Given the description of an element on the screen output the (x, y) to click on. 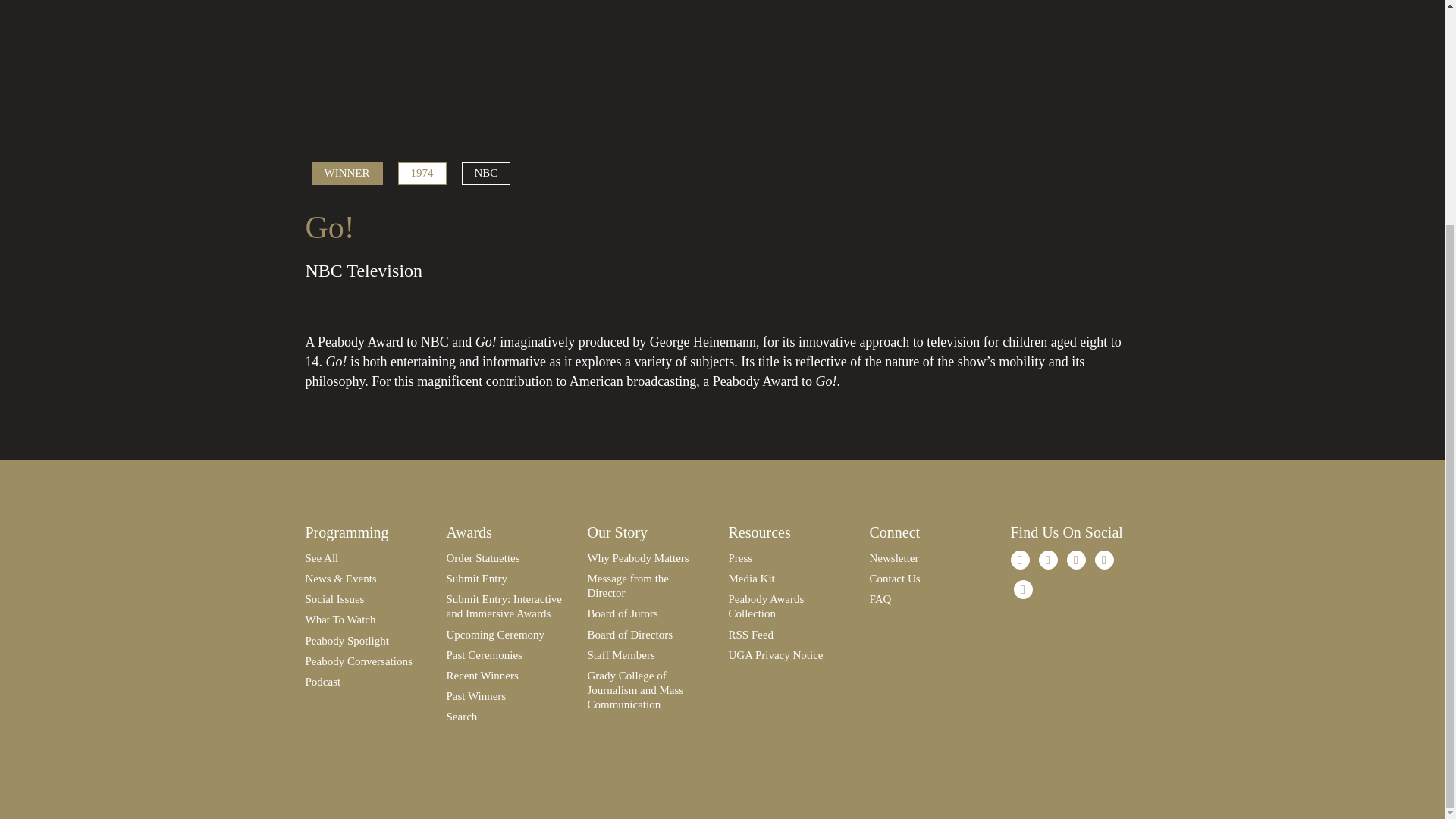
Media Kit (751, 578)
Press (740, 558)
Social Issues (334, 598)
Peabody Conversations (358, 661)
RSS Feed (750, 634)
Order Statuettes (482, 558)
Staff Members (619, 654)
Past Winners (475, 695)
Peabody Spotlight (346, 640)
Newsletter (893, 558)
